Given the description of an element on the screen output the (x, y) to click on. 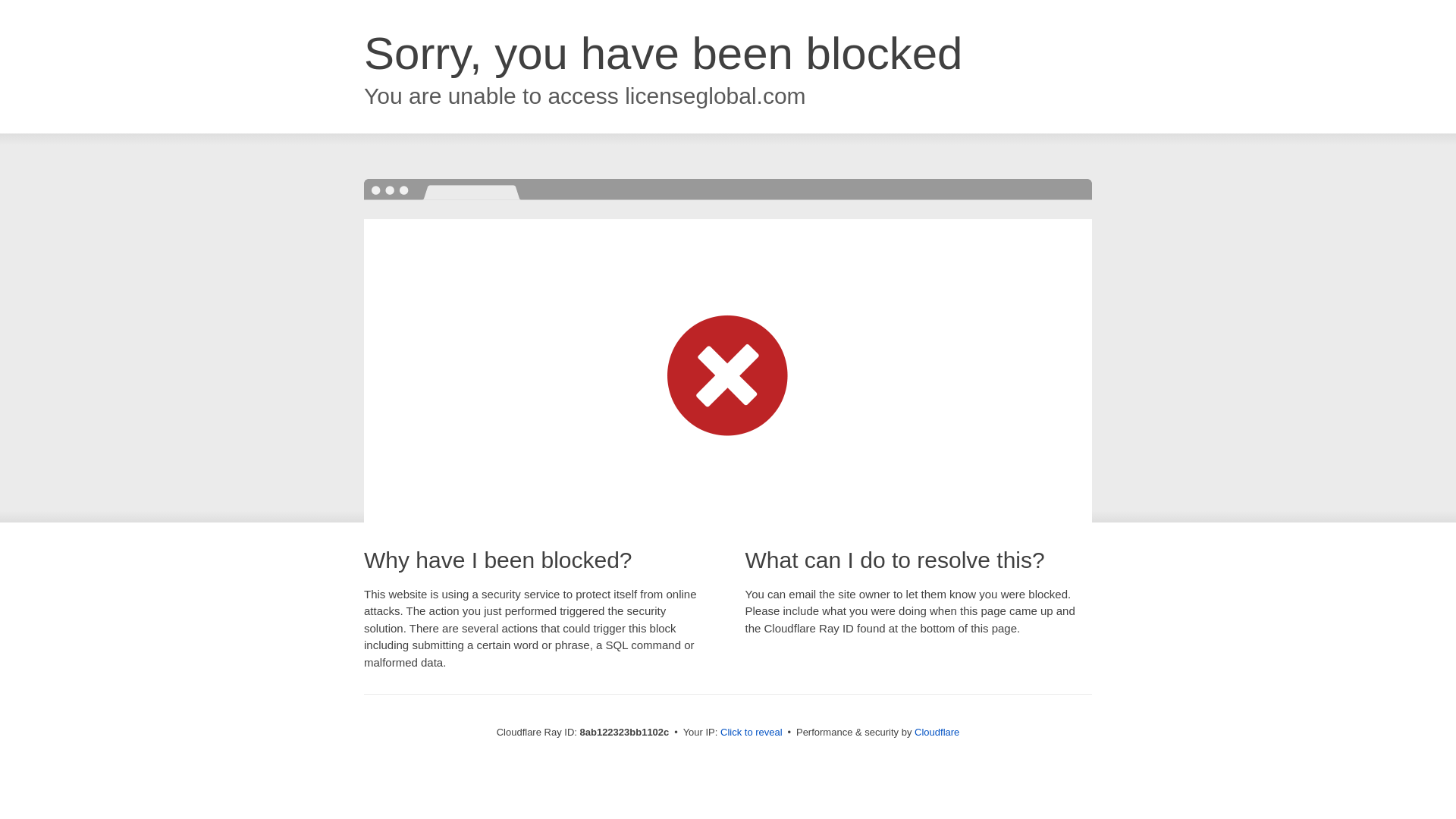
Cloudflare (936, 731)
Click to reveal (751, 732)
